Given the description of an element on the screen output the (x, y) to click on. 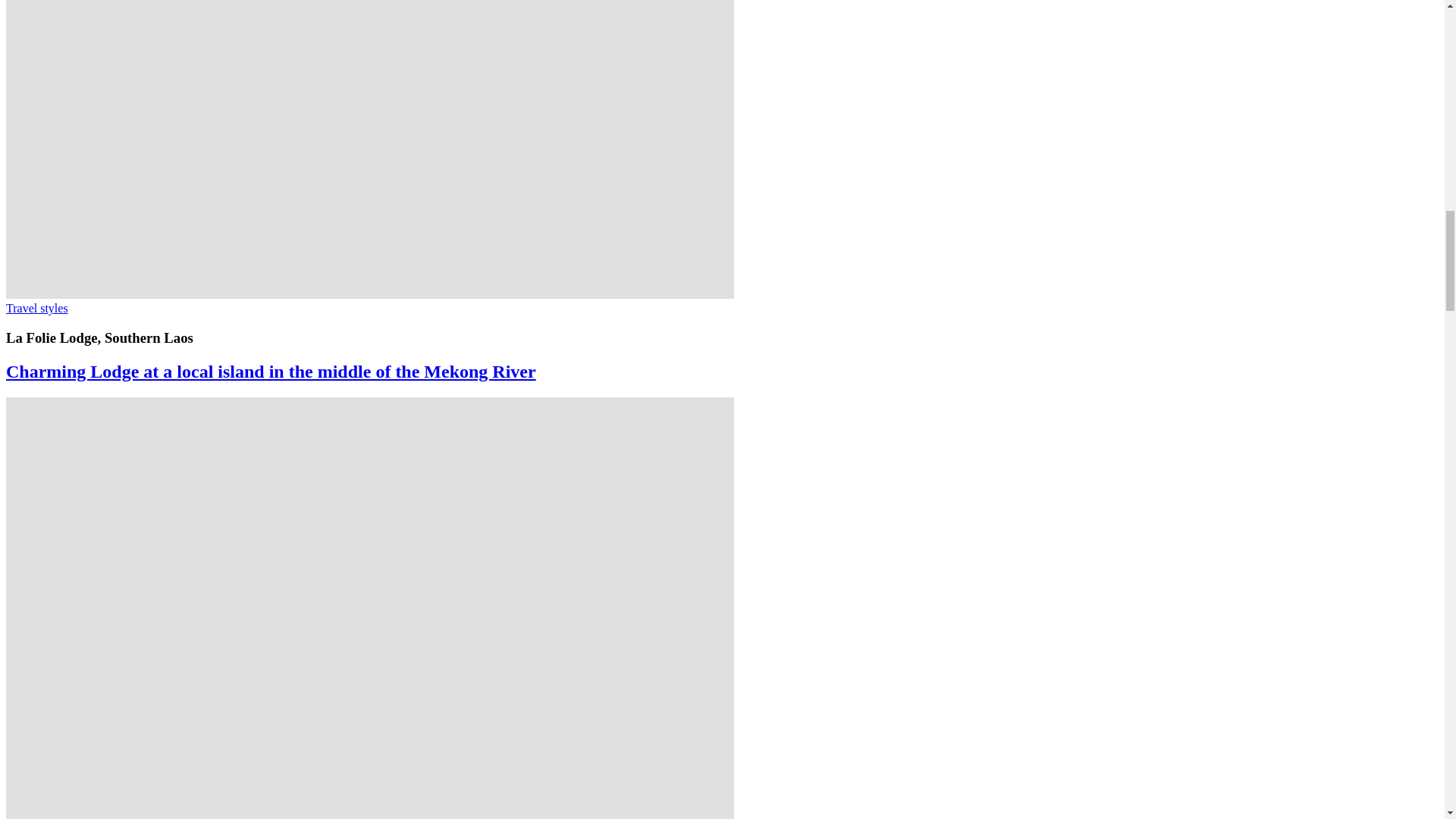
Travel styles (36, 308)
